Given the description of an element on the screen output the (x, y) to click on. 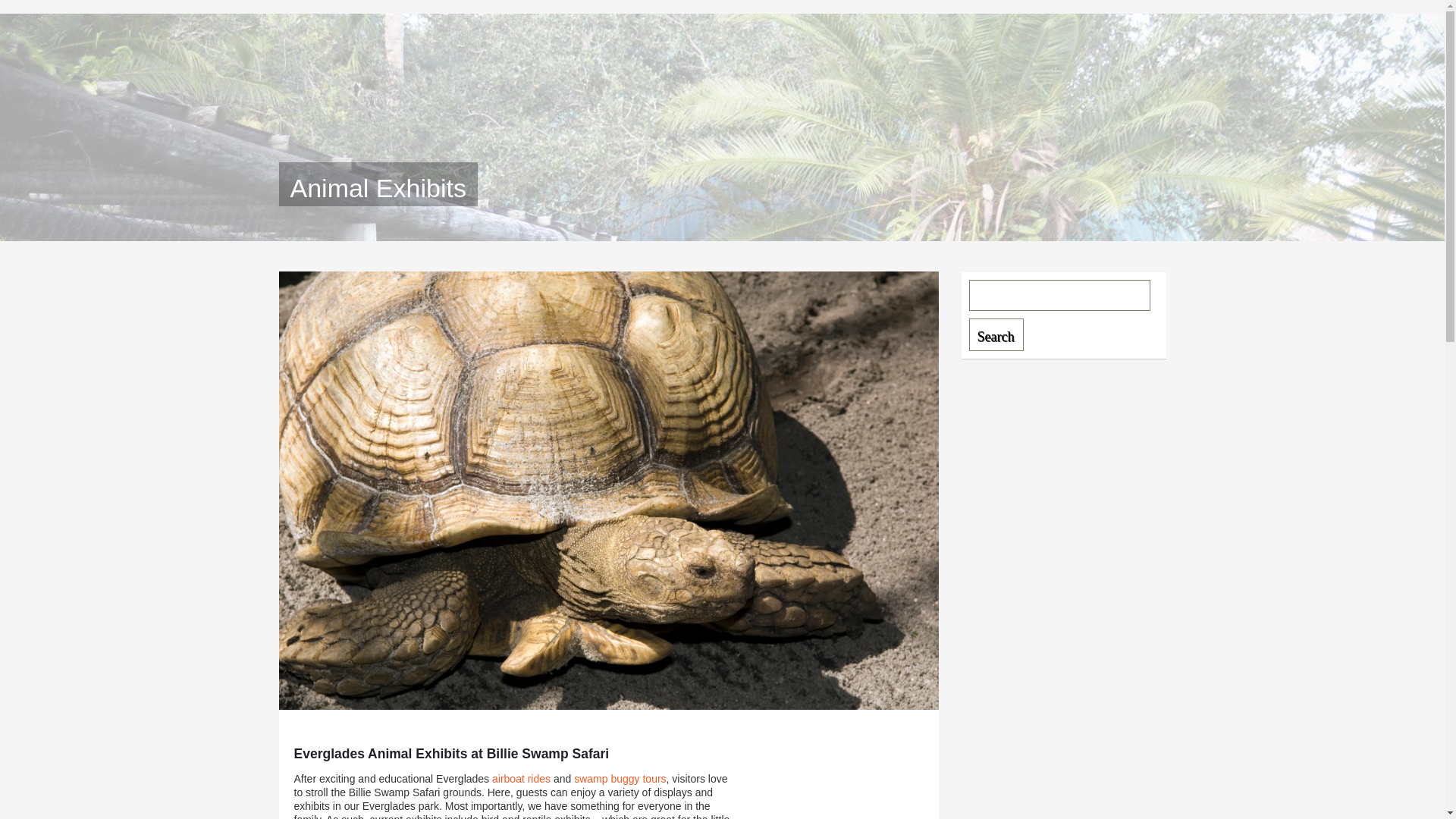
Search (997, 334)
airboat rides (521, 778)
swamp buggy tours (619, 778)
Search (997, 334)
